Given the description of an element on the screen output the (x, y) to click on. 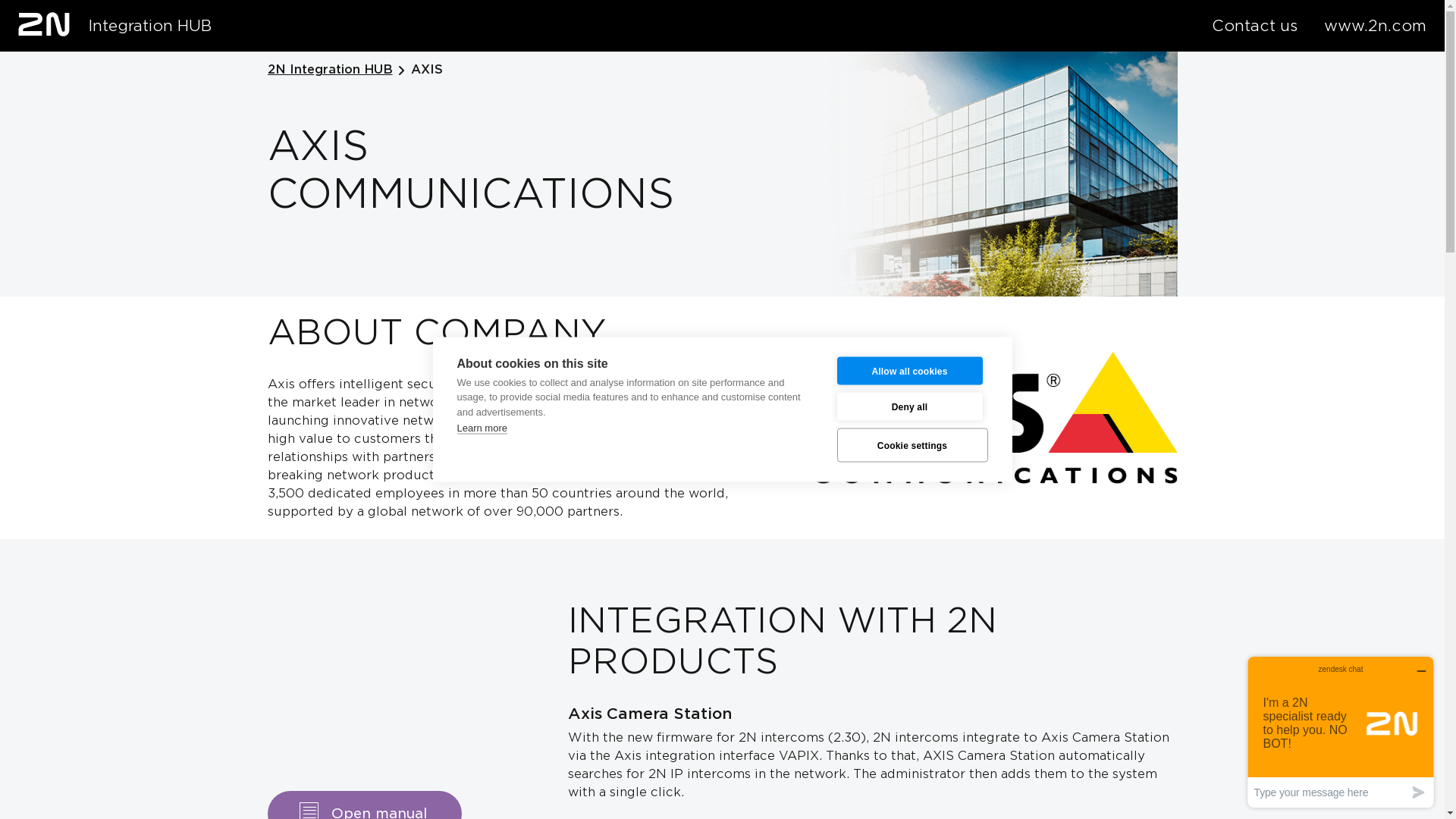
2N Element type: hover (43, 24)
Contact us Element type: text (1254, 25)
Cookie settings Element type: text (912, 444)
Learn more Element type: text (481, 427)
www.2n.com Element type: text (1375, 25)
Opens a widget where you can chat to one of our agents Element type: hover (1340, 731)
2N Integration HUB Element type: text (329, 69)
Allow all cookies Element type: text (909, 370)
Deny all Element type: text (909, 406)
